Given the description of an element on the screen output the (x, y) to click on. 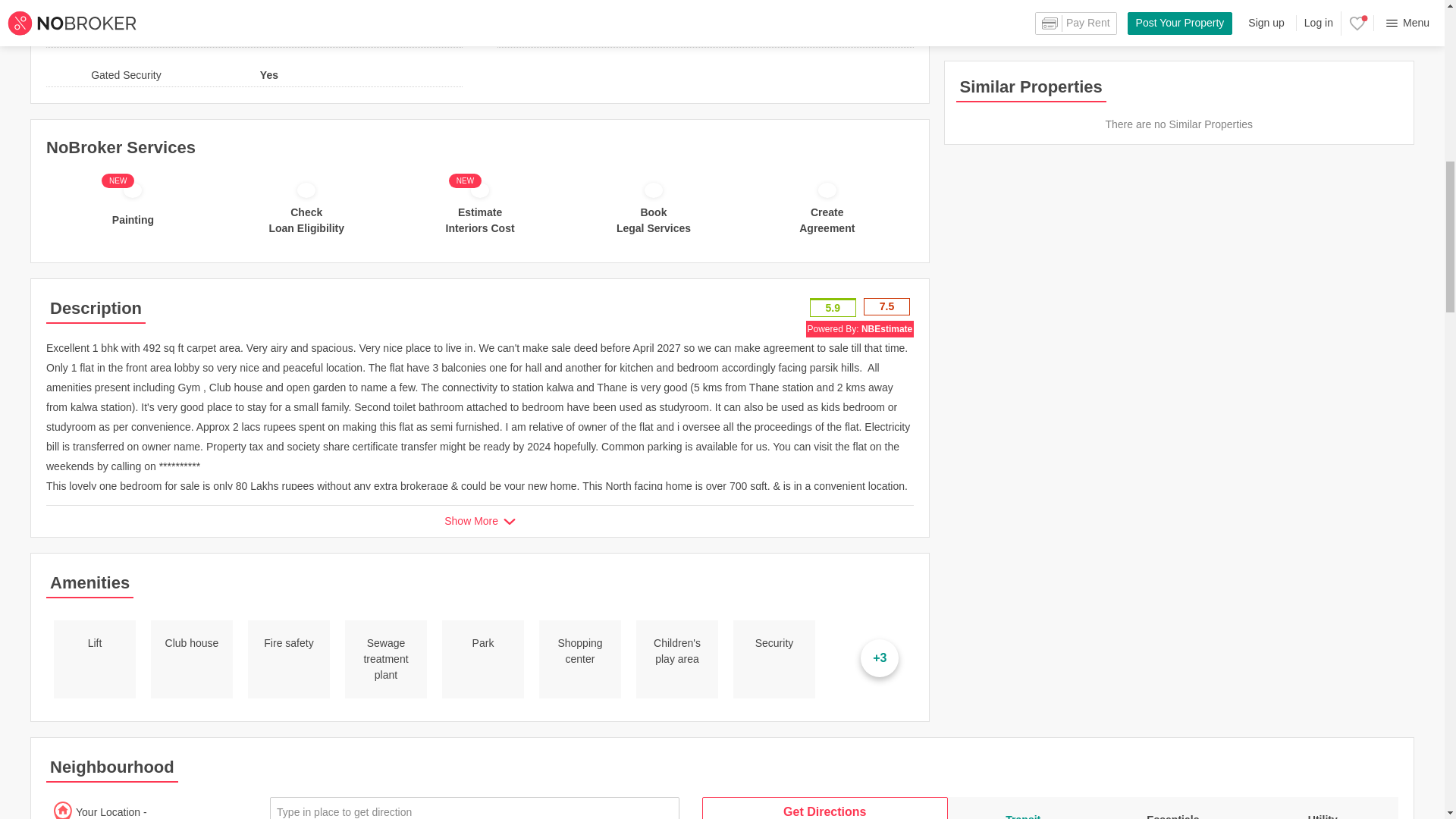
Furnish Now (324, 2)
Get Directions (824, 807)
